Given the description of an element on the screen output the (x, y) to click on. 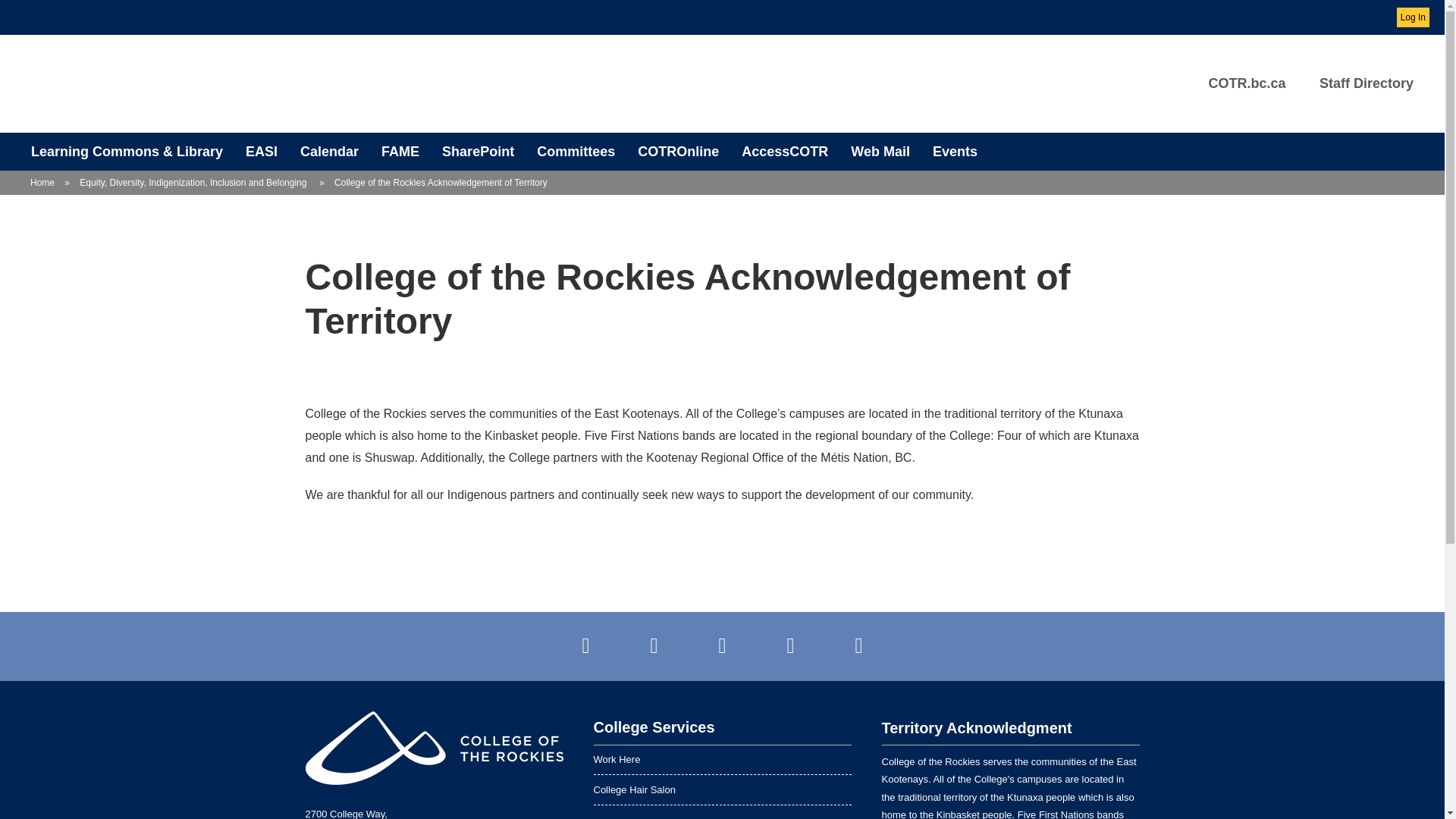
Home (42, 182)
Equity, Diversity, Indigenization, Inclusion and Belonging  (194, 182)
Committees (575, 151)
Calendar (328, 151)
Twitter (653, 646)
Instagram (858, 646)
Log In (1412, 17)
Events (954, 151)
Facebook (586, 646)
AccessCOTR (785, 151)
FAME (399, 151)
SharePoint (477, 151)
Web Mail (880, 151)
YouTube (722, 646)
Work Here (721, 759)
